Given the description of an element on the screen output the (x, y) to click on. 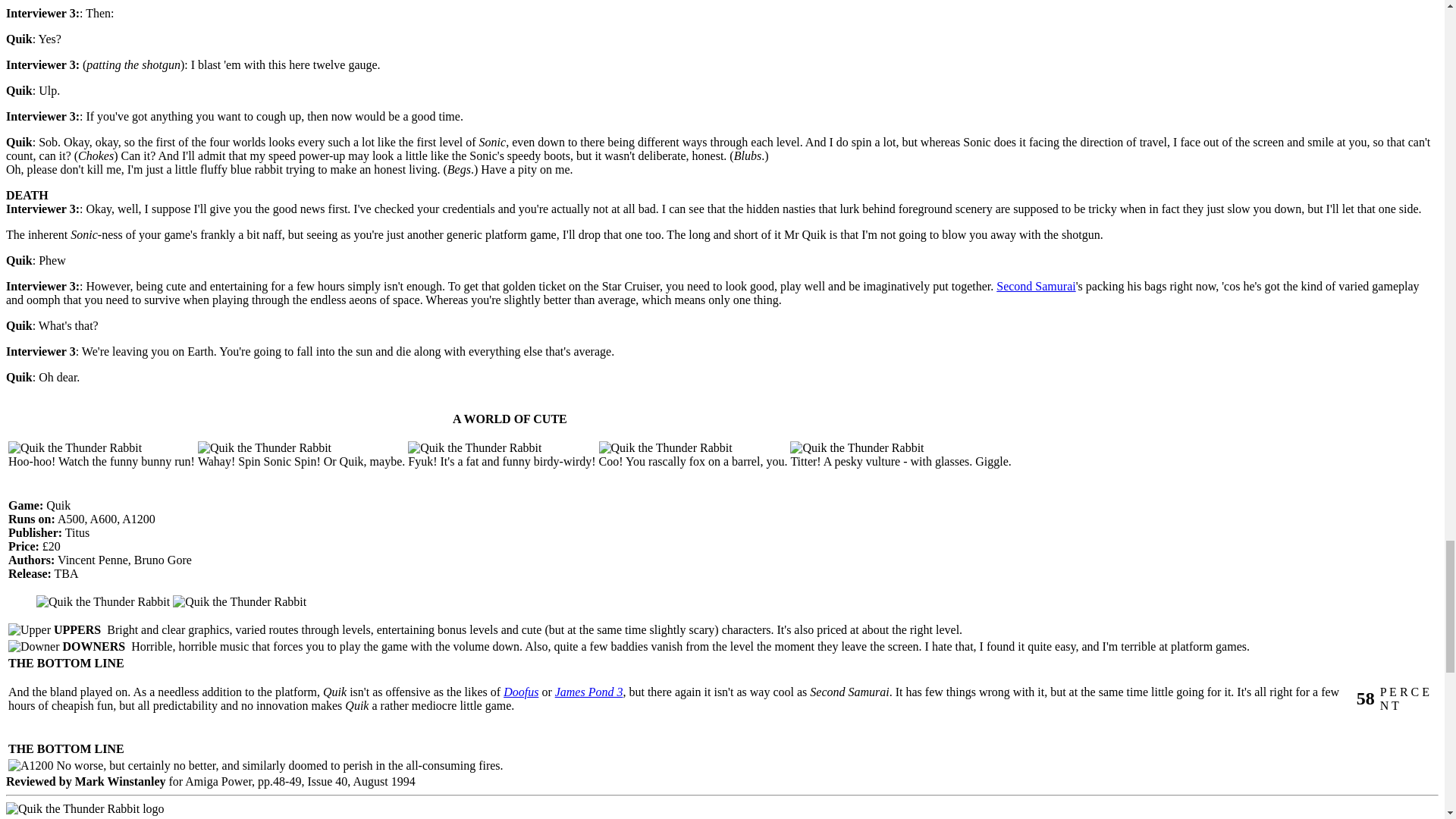
James Pond 3 (588, 691)
Second Samurai (1035, 286)
Doofus (520, 691)
